Given the description of an element on the screen output the (x, y) to click on. 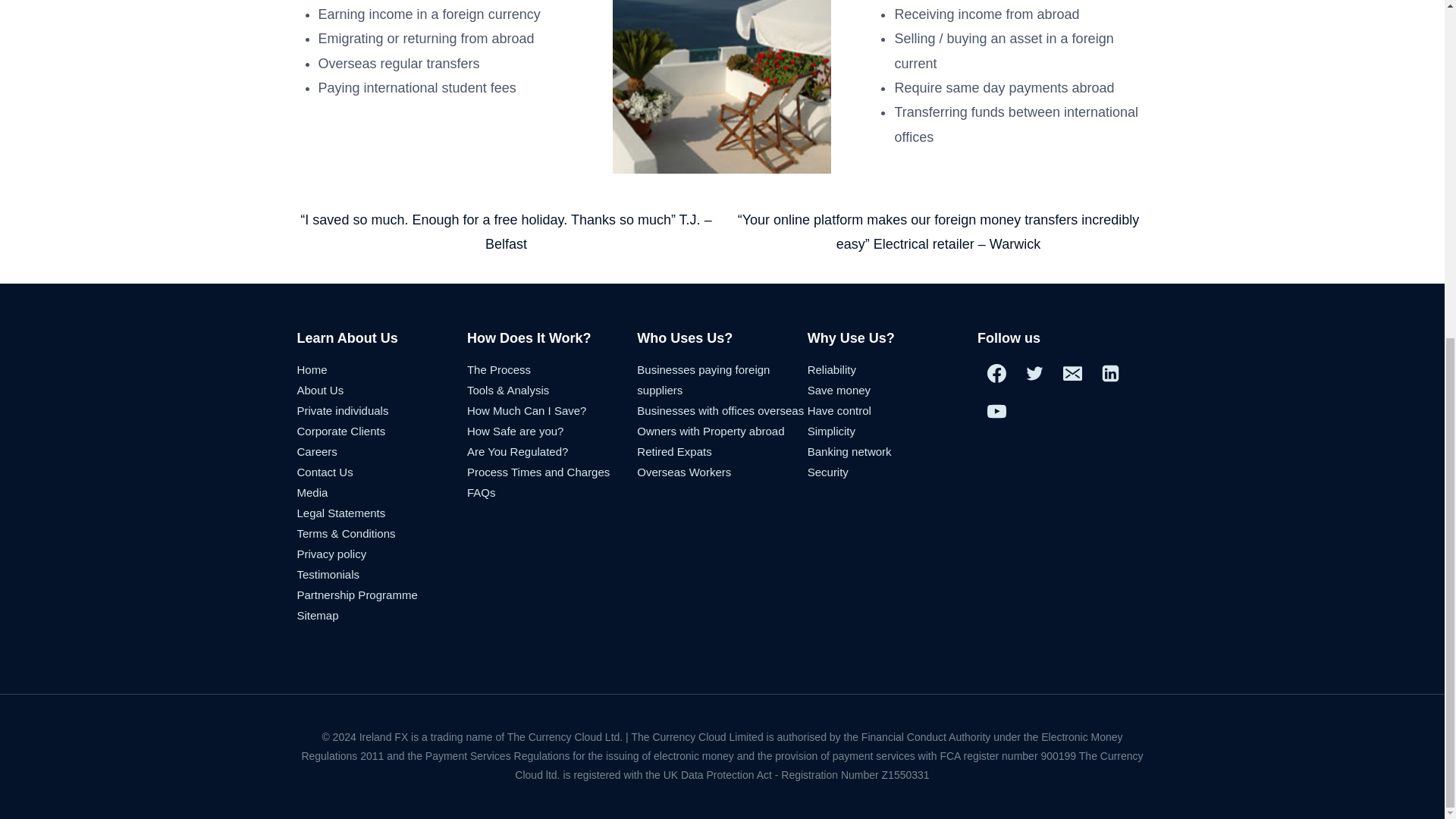
About Us (320, 390)
Careers (317, 451)
Home (312, 369)
Corporate Clients (341, 431)
Contact Us (325, 472)
FAQs (481, 492)
Legal Statements (341, 512)
The Process (499, 369)
Sitemap (318, 615)
Businesses paying foreign suppliers (703, 379)
Are You Regulated? (517, 451)
Partnership Programme (357, 594)
How Safe are you? (515, 431)
Reliability (832, 369)
How Much Can I Save? (526, 410)
